Given the description of an element on the screen output the (x, y) to click on. 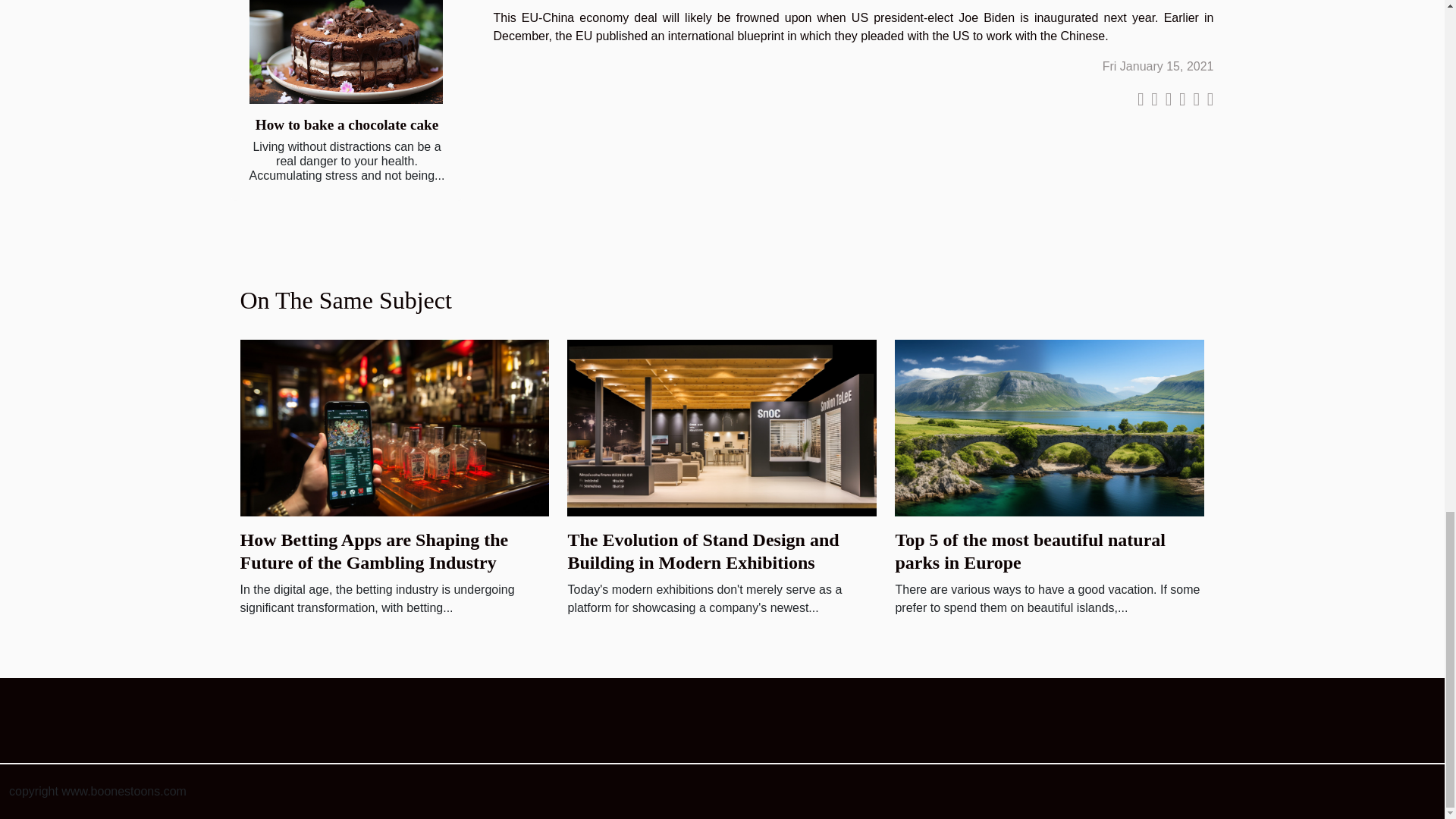
How to bake a chocolate cake (347, 124)
Top 5 of the most beautiful natural parks in Europe (1029, 550)
How to bake a chocolate cake (347, 124)
Top 5 of the most beautiful natural parks in Europe (1029, 550)
How to bake a chocolate cake (345, 52)
Top 5 of the most beautiful natural parks in Europe (1049, 427)
